Given the description of an element on the screen output the (x, y) to click on. 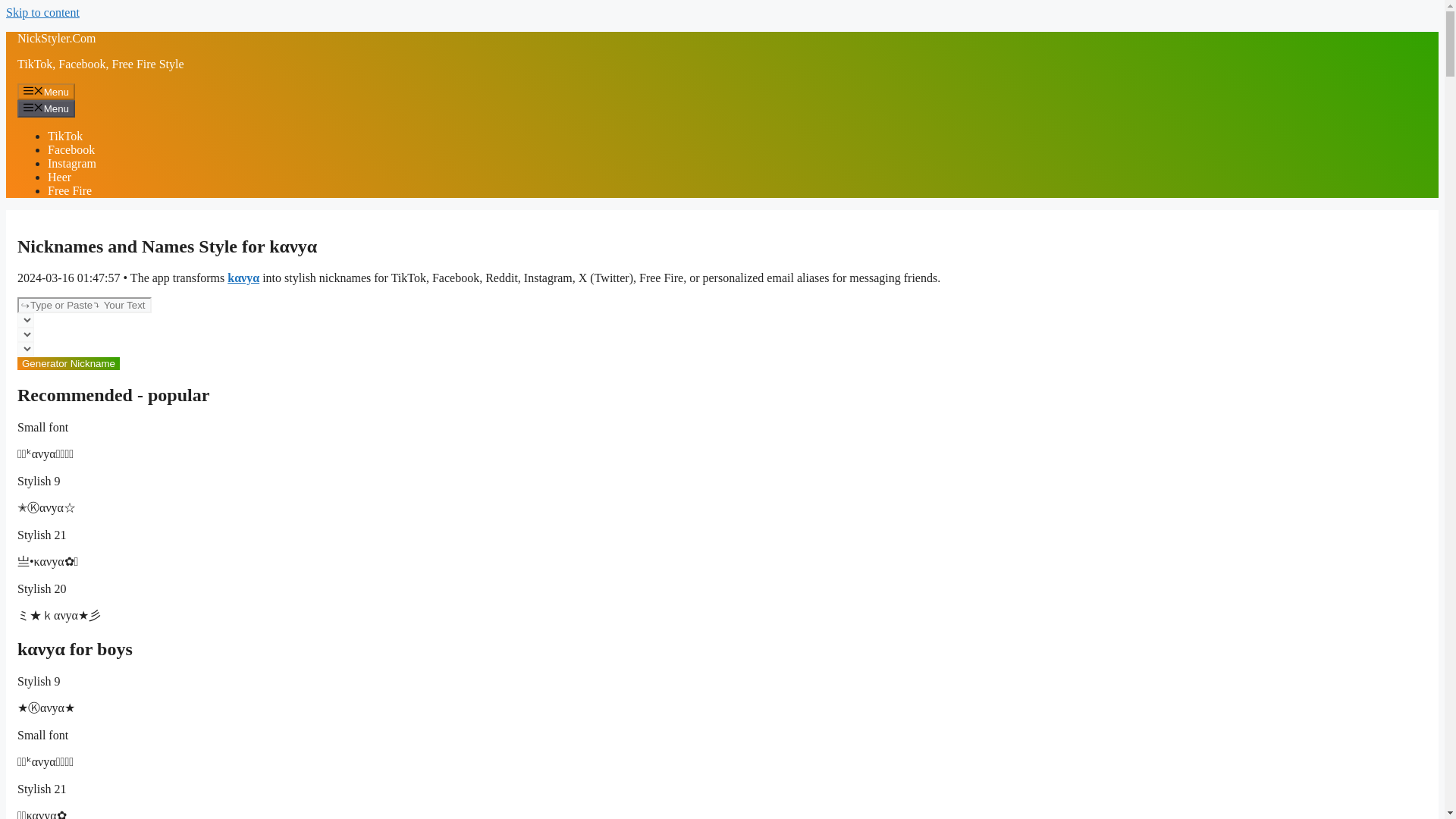
Skip to content (42, 11)
Generator Nickname (68, 363)
Instagram (72, 163)
Menu (46, 91)
Skip to content (42, 11)
TikTok (65, 135)
NickStyler.Com (56, 38)
Facebook (71, 149)
Free Fire (69, 190)
Menu (46, 108)
